Given the description of an element on the screen output the (x, y) to click on. 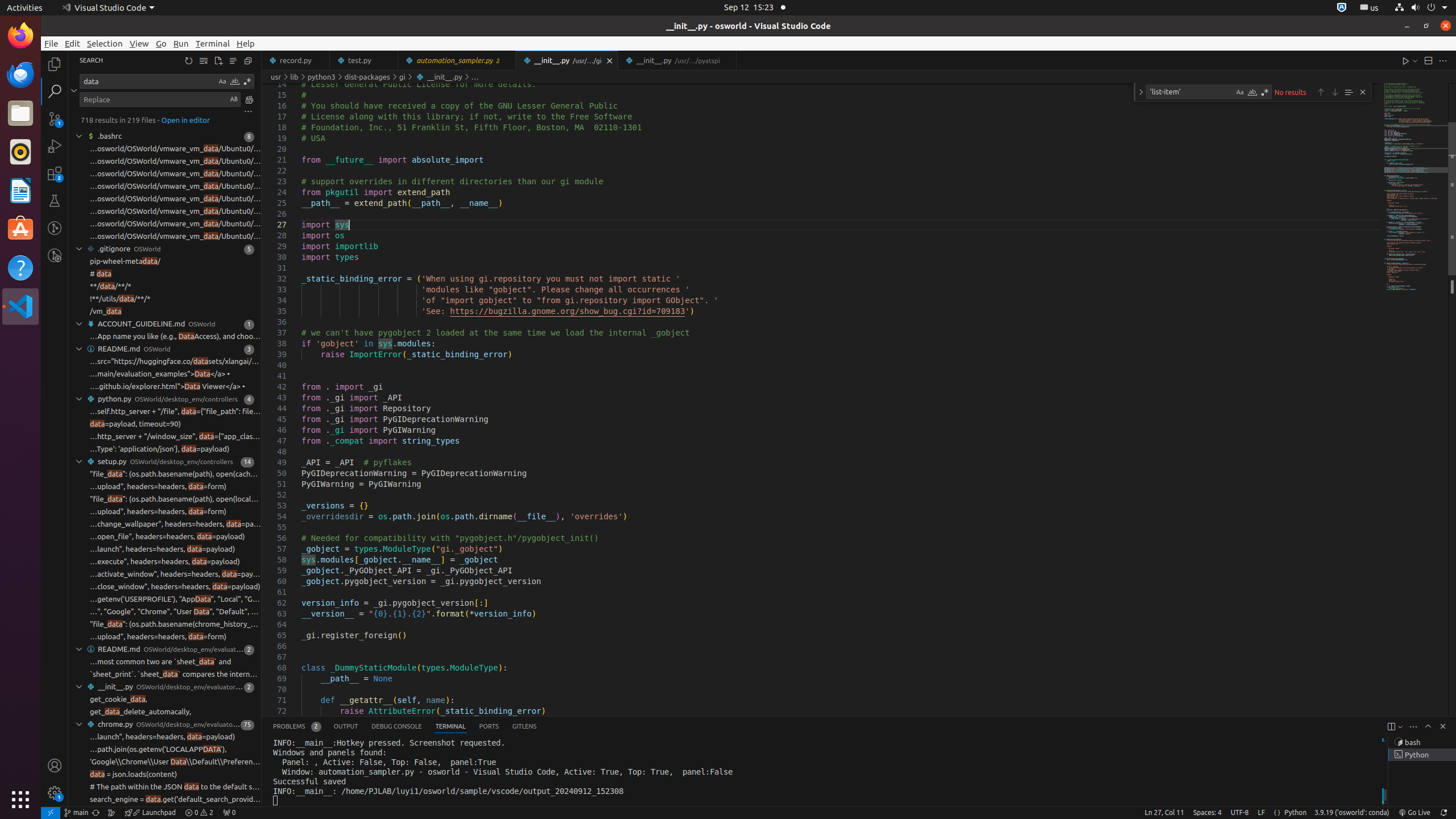
Ln 27, Col 11 Element type: push-button (1163, 812)
' # The path within the JSON data to the default search engine might vary' at column 36 found data Element type: tree-item (164, 786)
Source Control (Ctrl+Shift+G G) - 1 pending changes Element type: page-tab (54, 118)
2 matches in file __init__.py of folder OSWorld/desktop_env/evaluators/getters, Search result Element type: tree-item (164, 686)
' "file_data": (os.path.basename(chrome_history_path), open(db_path, "rb"))' at column 19 found data Element type: tree-item (164, 623)
